Given the description of an element on the screen output the (x, y) to click on. 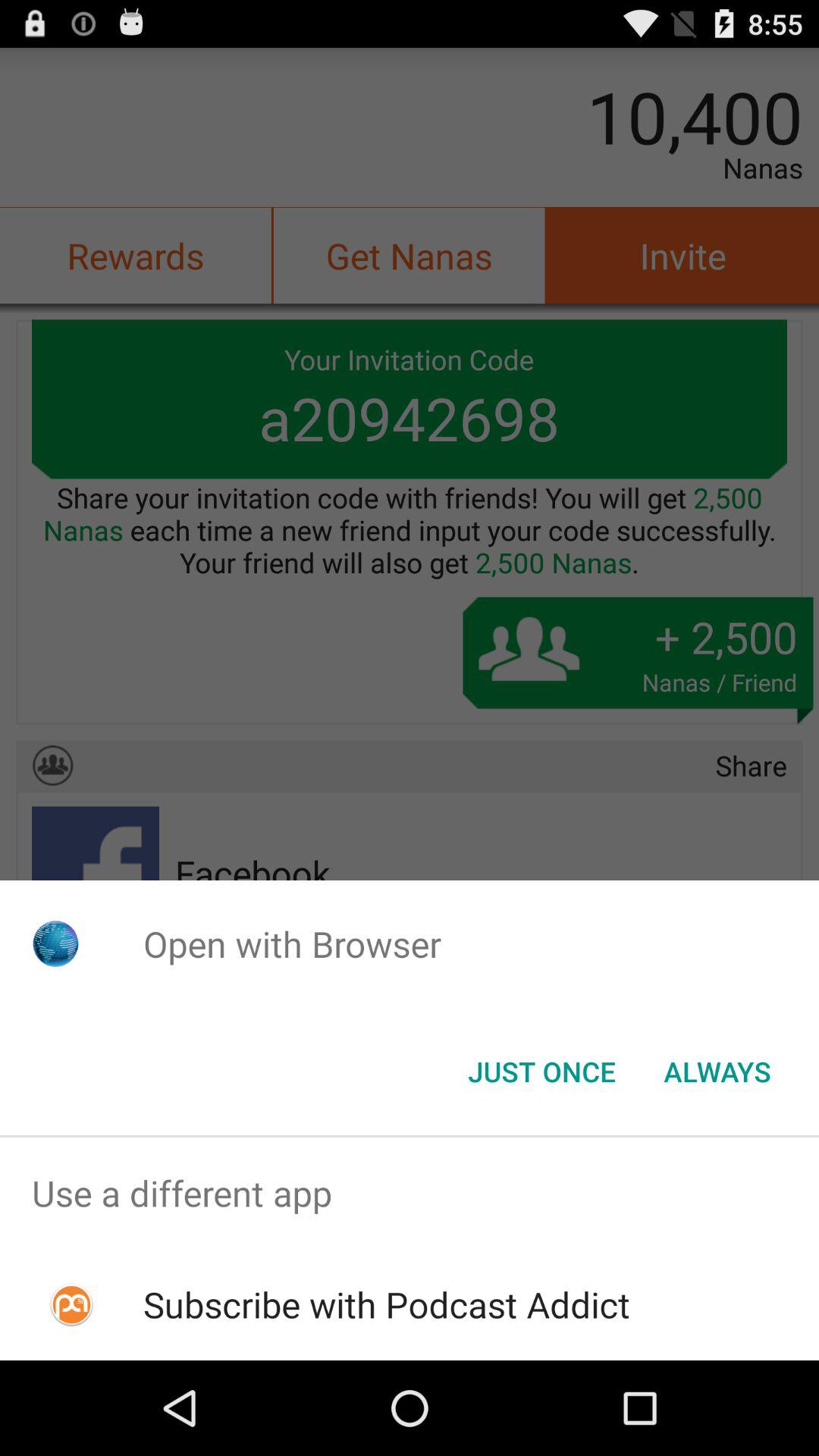
click use a different icon (409, 1192)
